Given the description of an element on the screen output the (x, y) to click on. 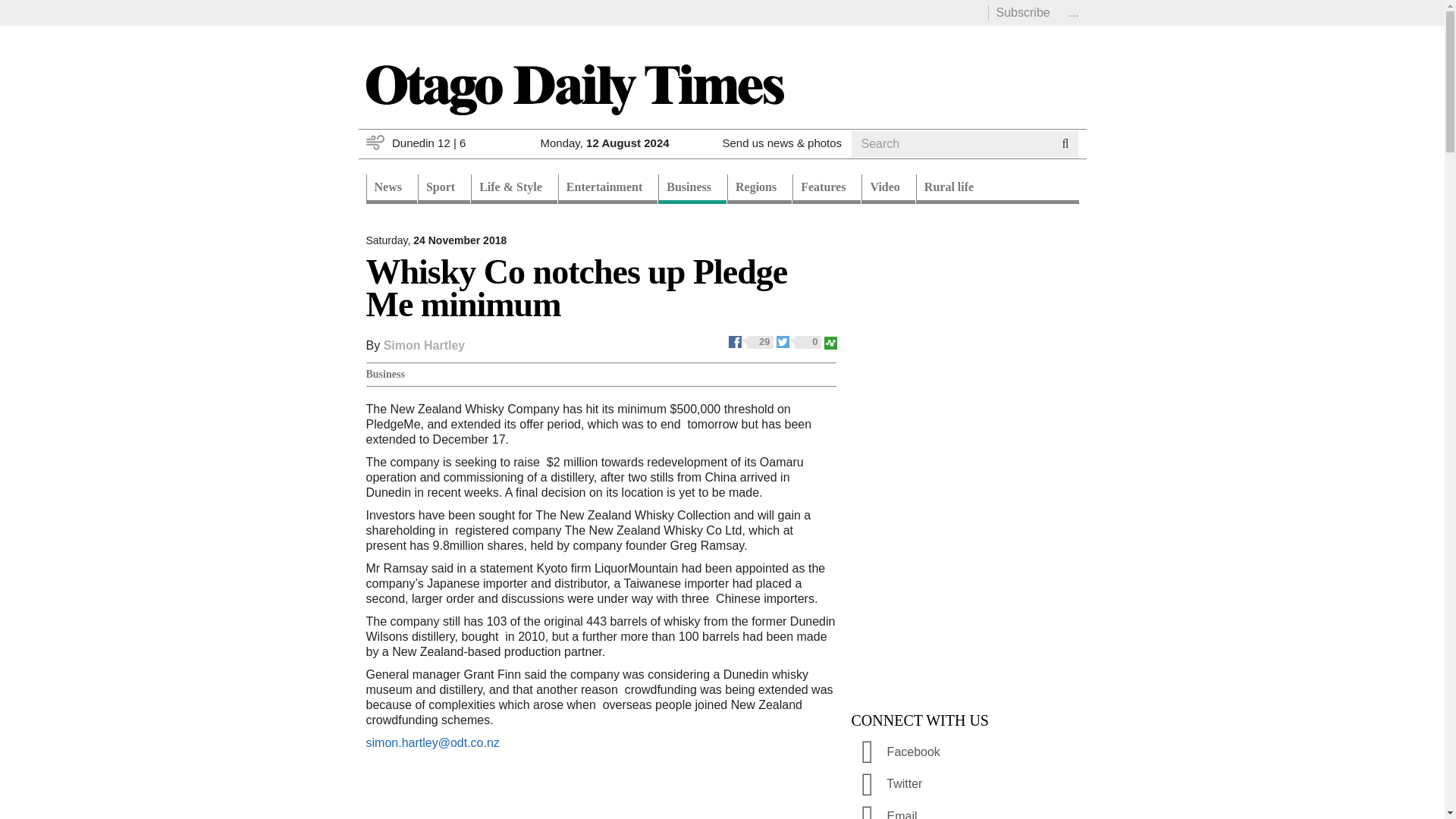
Twitter (800, 340)
Search (879, 162)
Facebook (752, 340)
Wind (374, 142)
Sport (443, 188)
ShareThis (829, 340)
Enter the terms you wish to search for. (951, 144)
Home (574, 88)
News (390, 188)
